Given the description of an element on the screen output the (x, y) to click on. 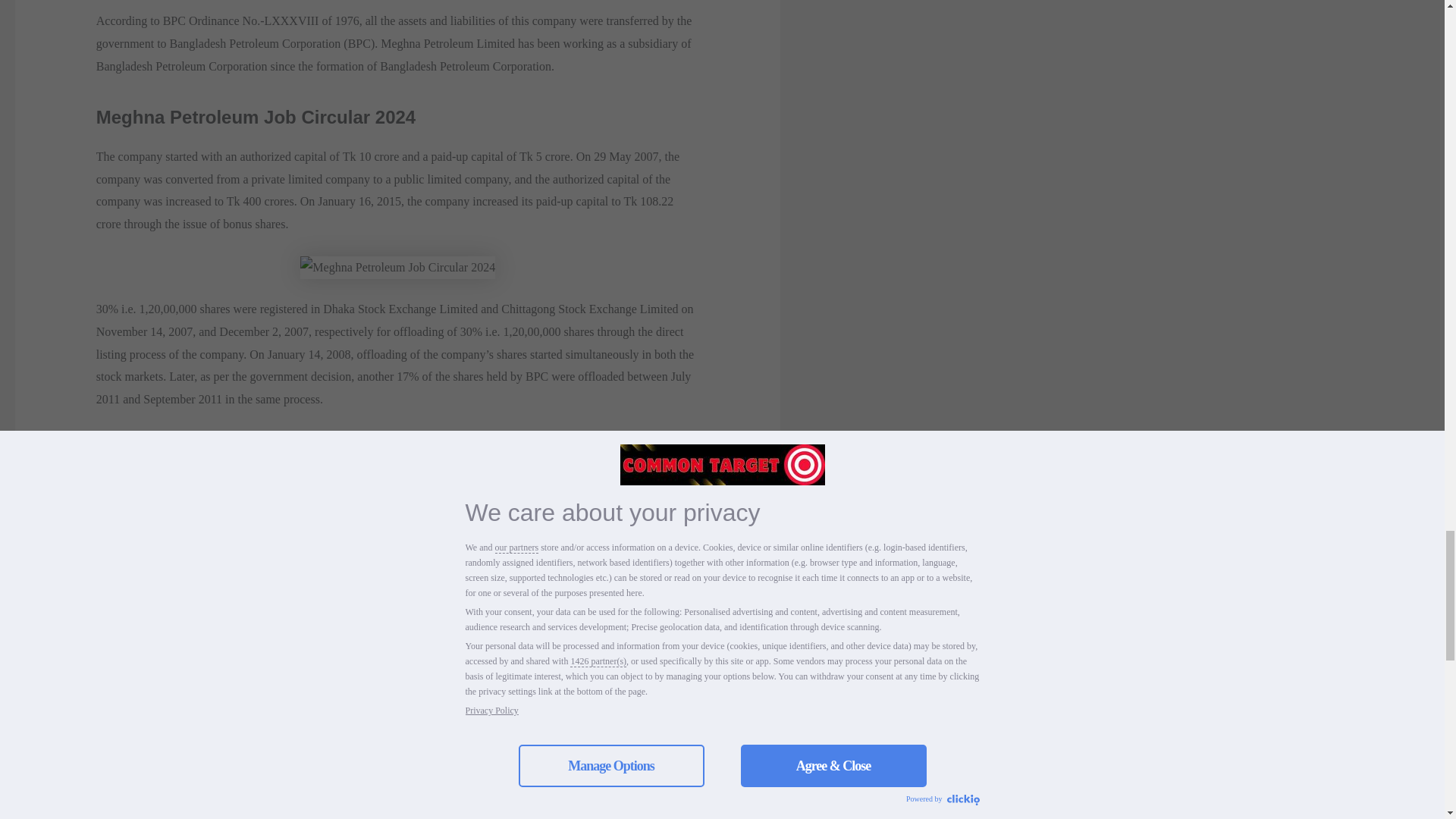
Bangladesh Telecommunications BTCL Job Circular 2016 (191, 793)
Al-Arafah Islami Bank Job Circular 2024 (169, 585)
AB Bank Ltd Job Circular 2016 (625, 585)
Eastern Refinery Job Circular 2024 (510, 760)
